Given the description of an element on the screen output the (x, y) to click on. 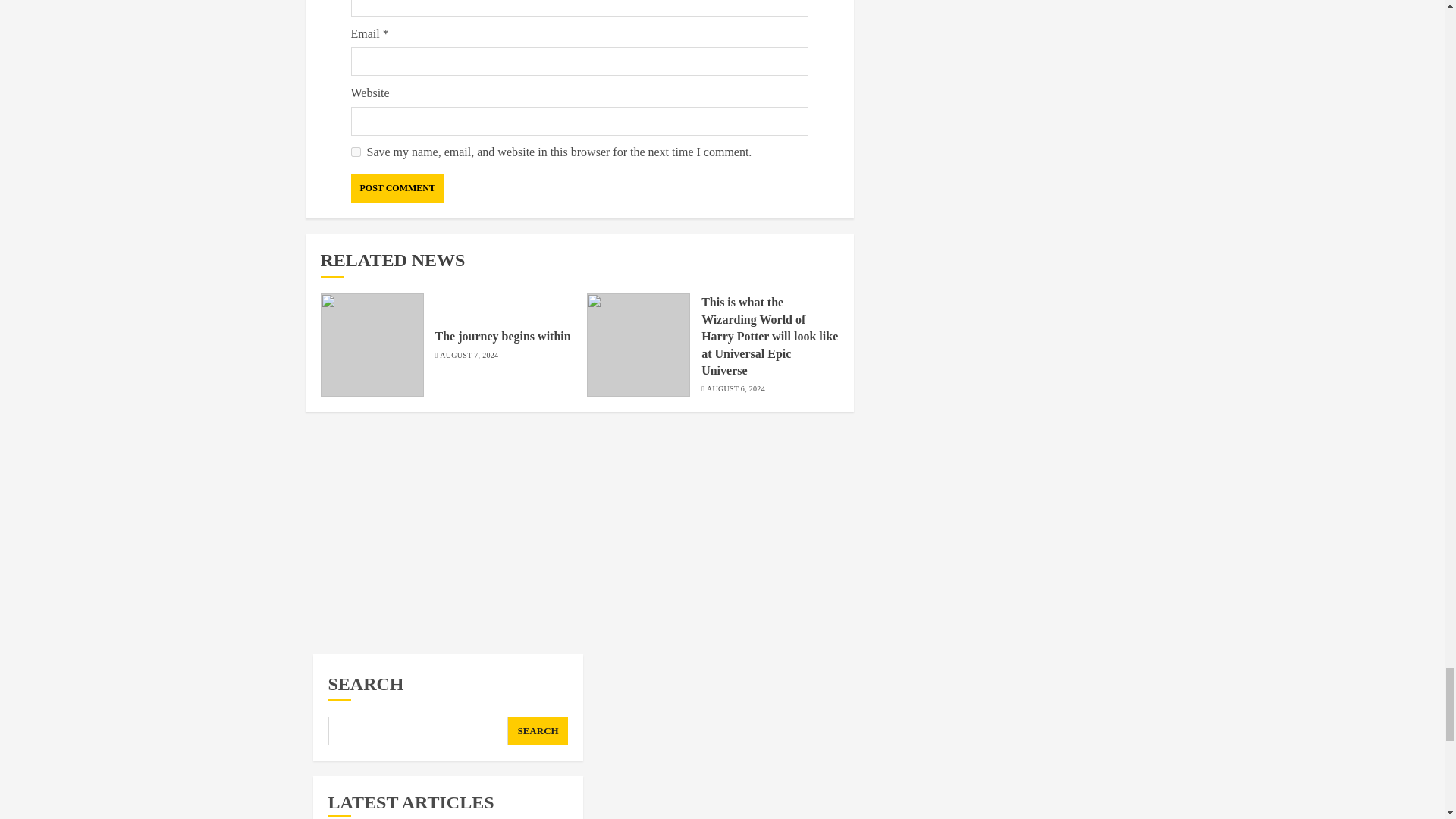
yes (354, 152)
AUGUST 6, 2024 (735, 388)
AUGUST 7, 2024 (468, 355)
Post Comment (397, 188)
The journey begins within (502, 336)
Post Comment (397, 188)
SEARCH (537, 730)
